Given the description of an element on the screen output the (x, y) to click on. 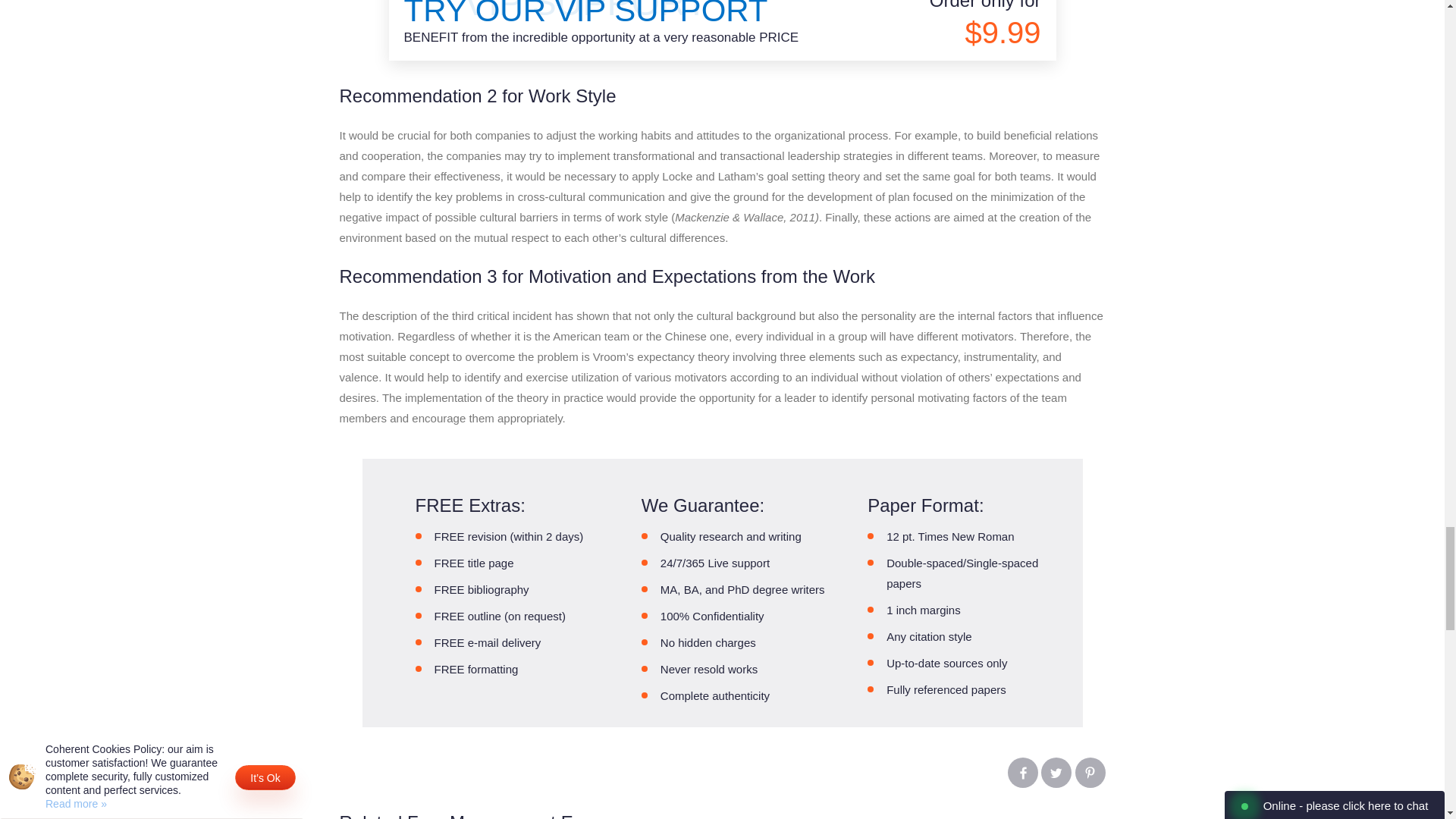
Share on Facebook (1022, 772)
Share on Pinterest (1090, 772)
Share on Twitter (1056, 772)
